Given the description of an element on the screen output the (x, y) to click on. 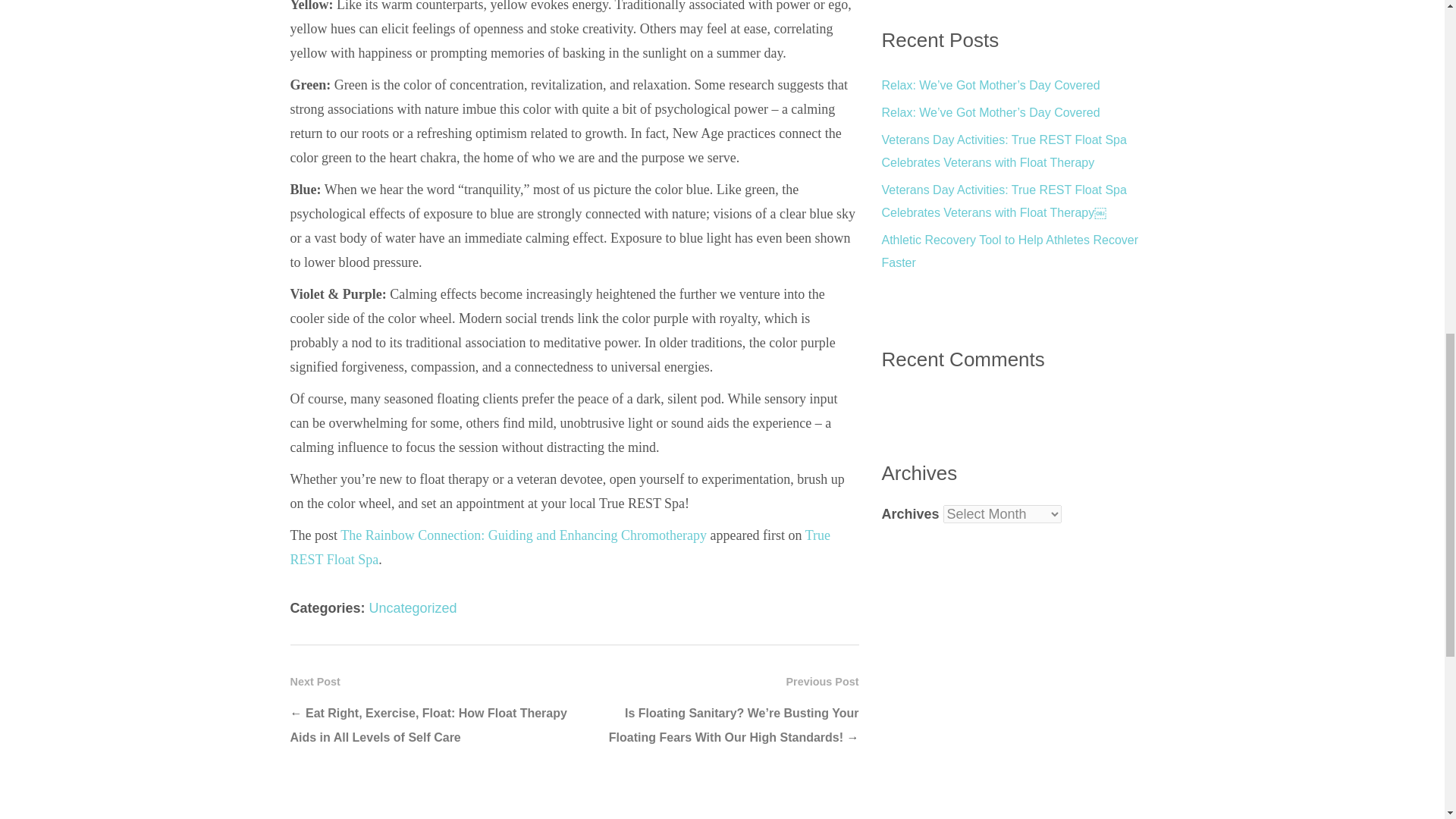
The Rainbow Connection: Guiding and Enhancing Chromotherapy (523, 534)
Athletic Recovery Tool to Help Athletes Recover Faster (1009, 251)
Uncategorized (413, 607)
True REST Float Spa (559, 547)
